Given the description of an element on the screen output the (x, y) to click on. 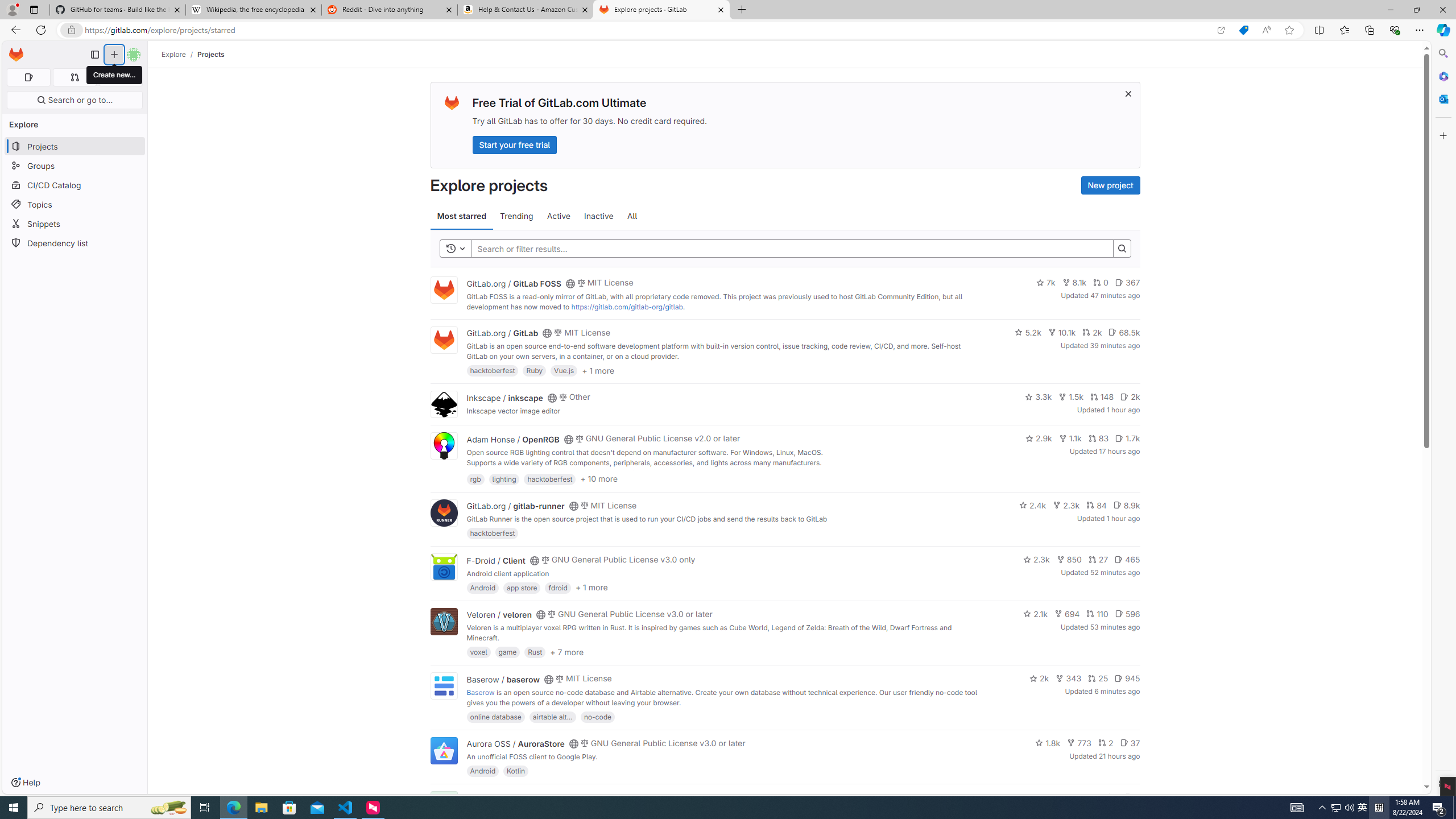
Projects (211, 53)
F (443, 805)
GitLab.org / GitLab FOSS (513, 283)
Toggle history (455, 248)
5.2k (1027, 331)
online database (495, 715)
+ 1 more (591, 587)
game (507, 651)
343 (1068, 678)
Skip to main content (13, 49)
1.4k (1054, 797)
To-Do list 0 (120, 76)
